Given the description of an element on the screen output the (x, y) to click on. 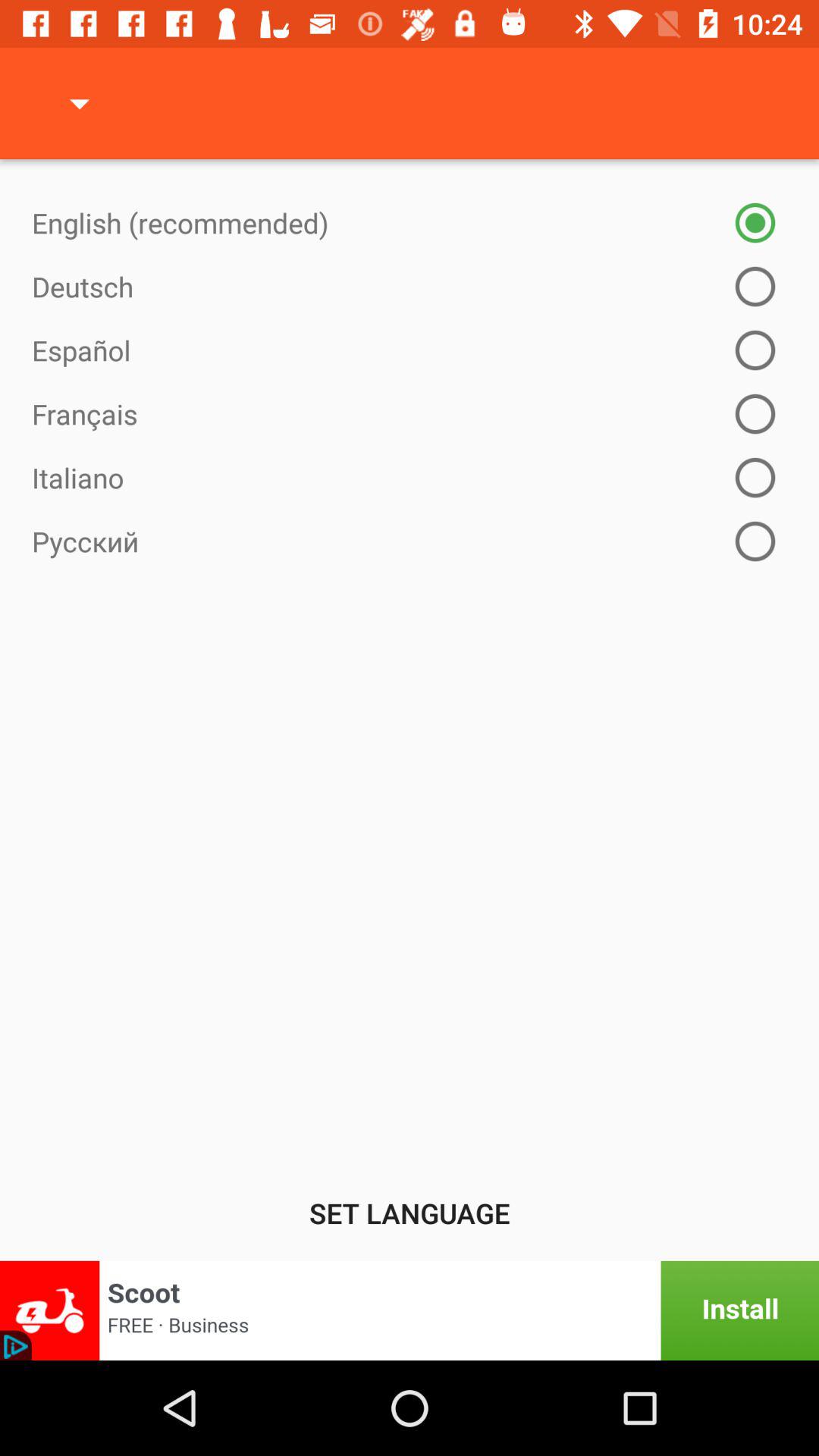
ad-install app (409, 1310)
